Given the description of an element on the screen output the (x, y) to click on. 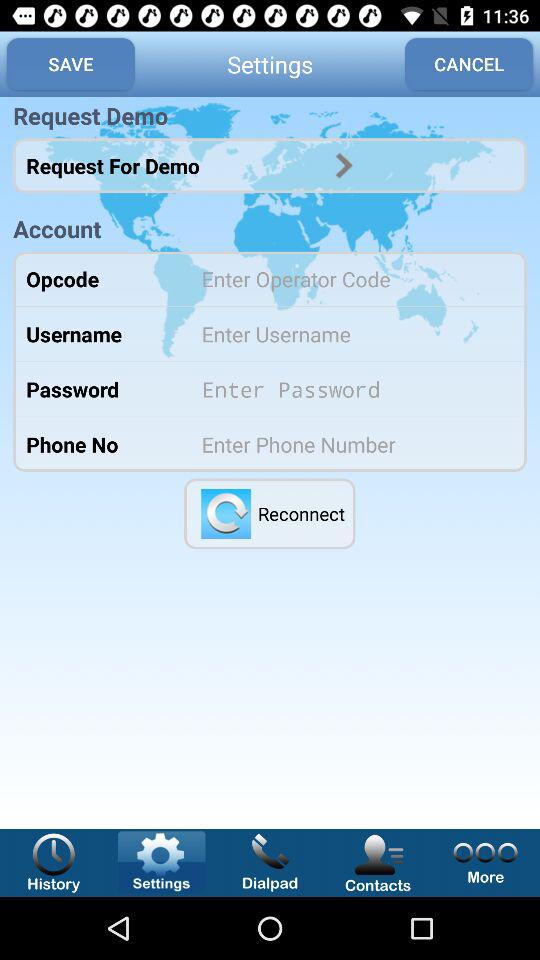
enter your operator code (350, 278)
